Given the description of an element on the screen output the (x, y) to click on. 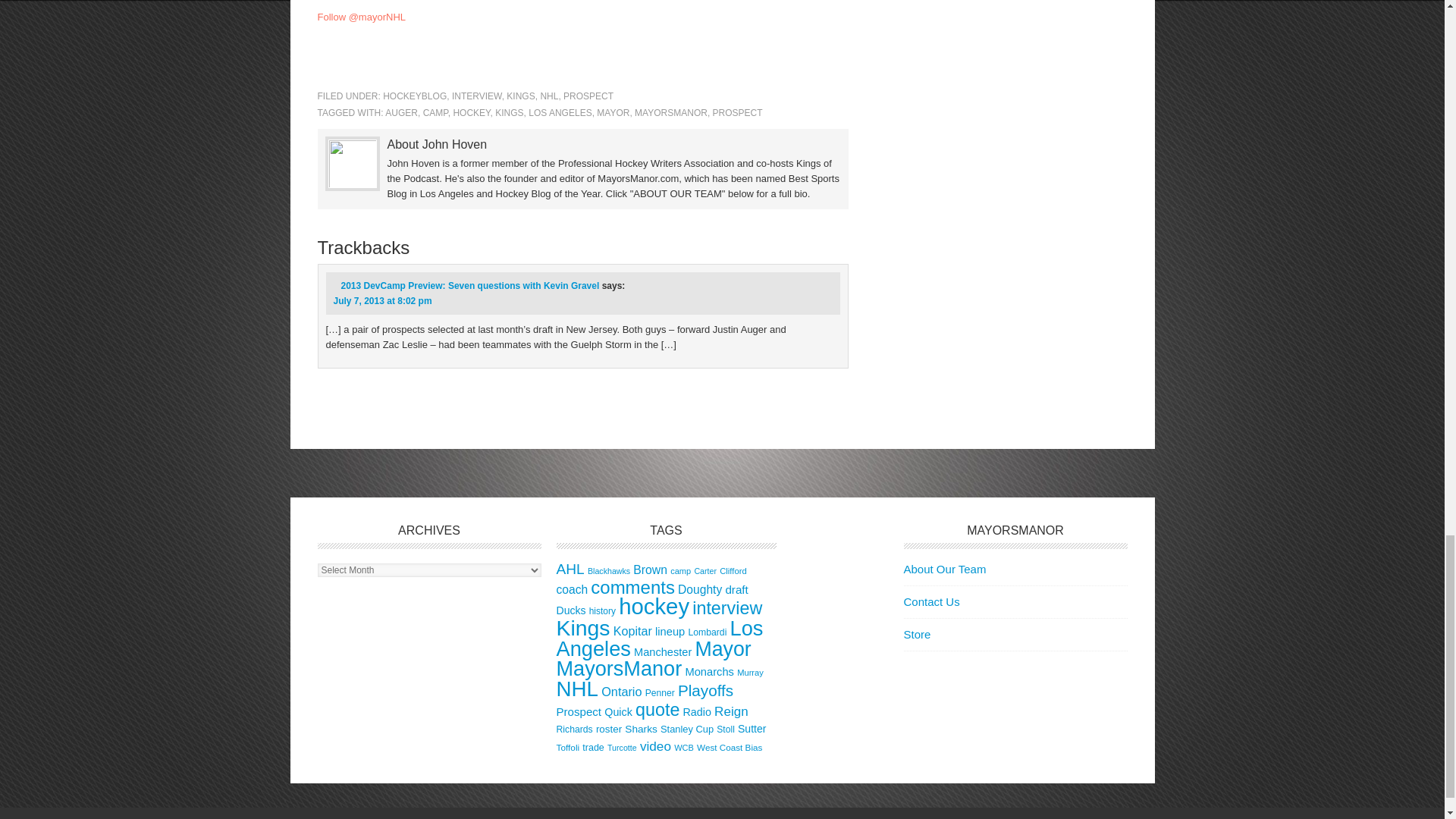
PROSPECT (737, 112)
MAYOR (612, 112)
HOCKEYBLOG (414, 95)
2013 DevCamp Preview: Seven questions with Kevin Gravel (469, 285)
HOCKEY (470, 112)
July 7, 2013 at 8:02 pm (382, 300)
CAMP (435, 112)
AUGER (401, 112)
INTERVIEW (476, 95)
NHL (548, 95)
KINGS (520, 95)
LOS ANGELES (559, 112)
MAYORSMANOR (670, 112)
PROSPECT (587, 95)
KINGS (508, 112)
